Given the description of an element on the screen output the (x, y) to click on. 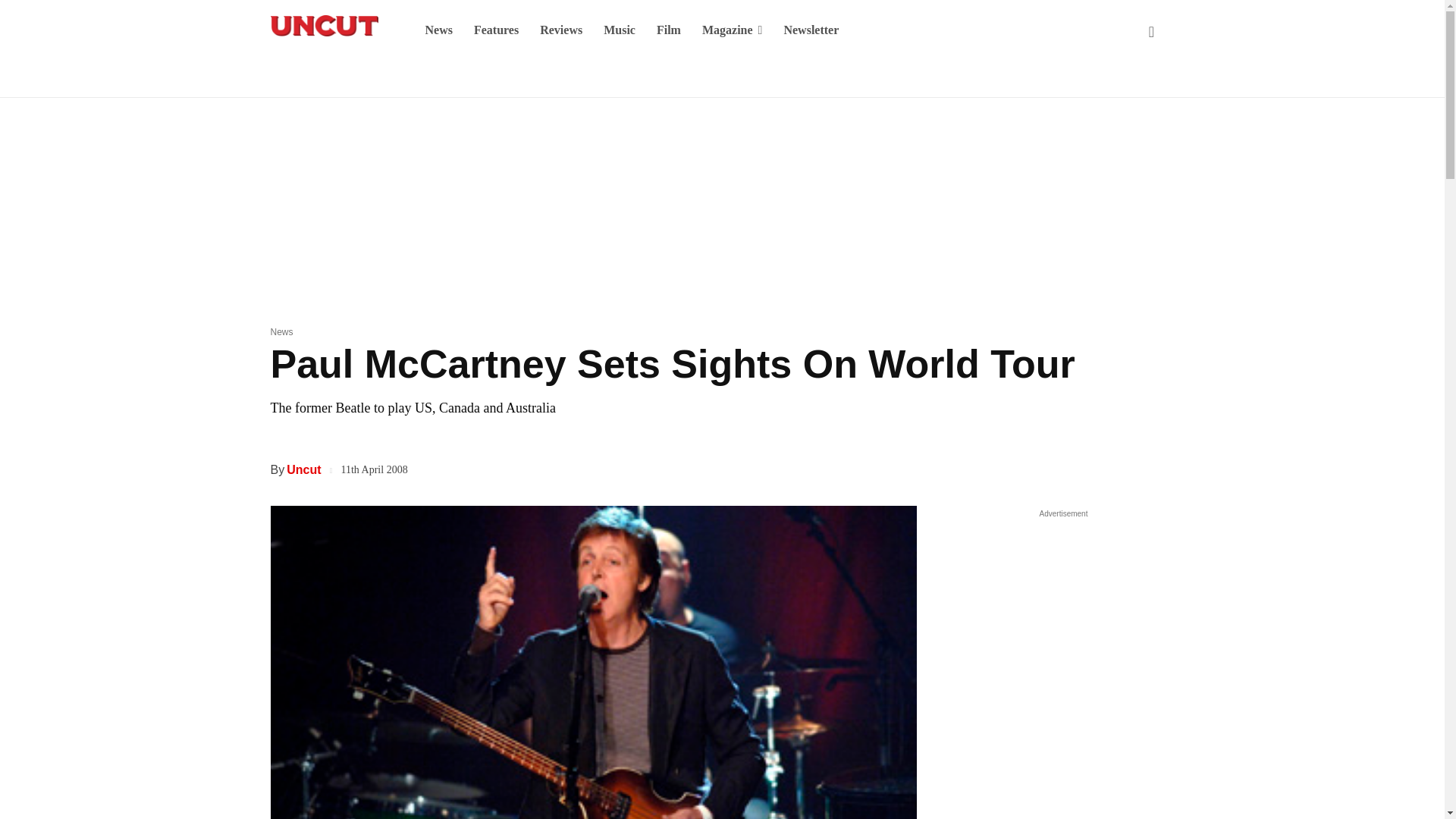
Features (496, 30)
View all posts in News (280, 331)
Magazine (732, 30)
Uncut Logo (323, 25)
Reviews (560, 30)
Newsletter (810, 30)
